Given the description of an element on the screen output the (x, y) to click on. 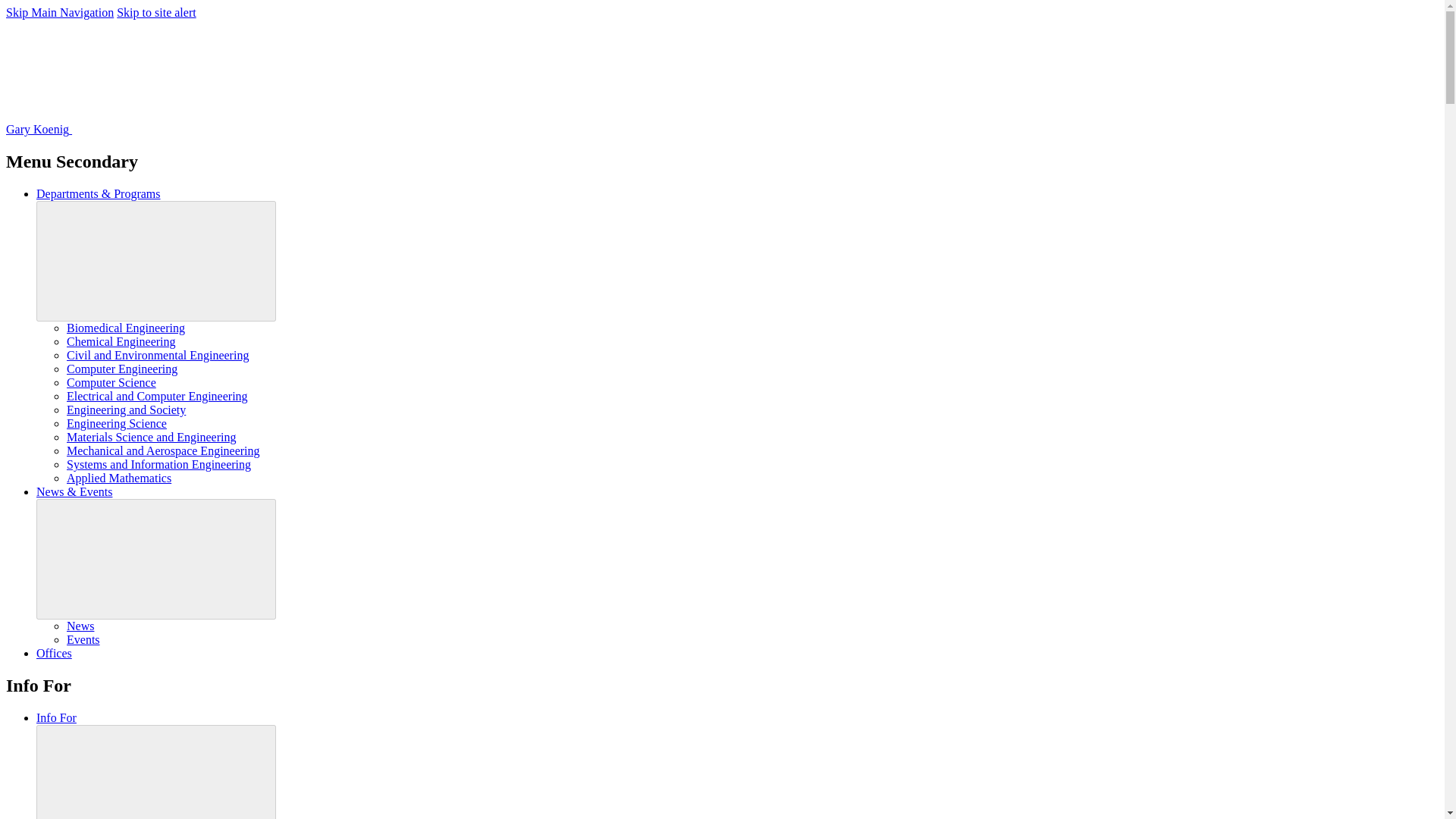
Skip Main Navigation (59, 11)
Skip to site alert (155, 11)
Gary Koenig (152, 128)
